Given the description of an element on the screen output the (x, y) to click on. 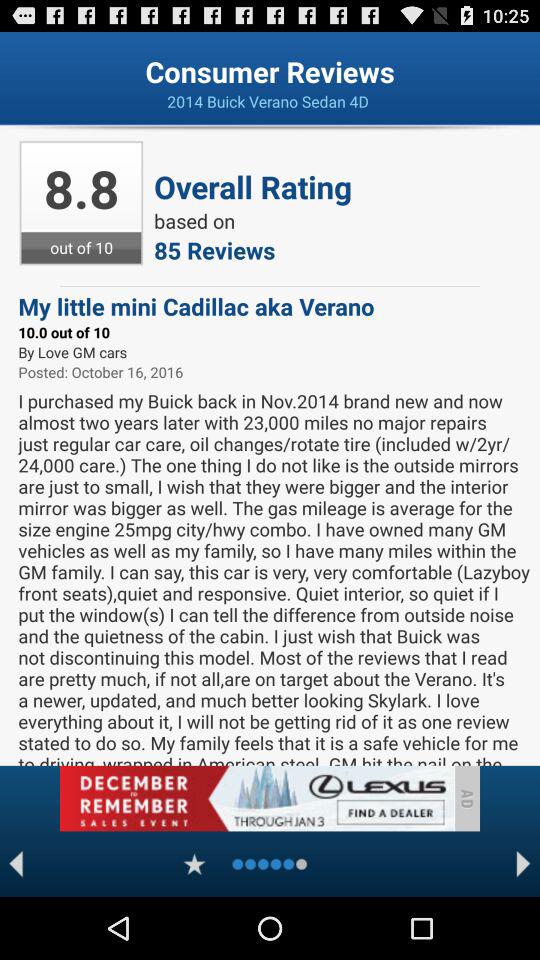
next page (523, 864)
